Given the description of an element on the screen output the (x, y) to click on. 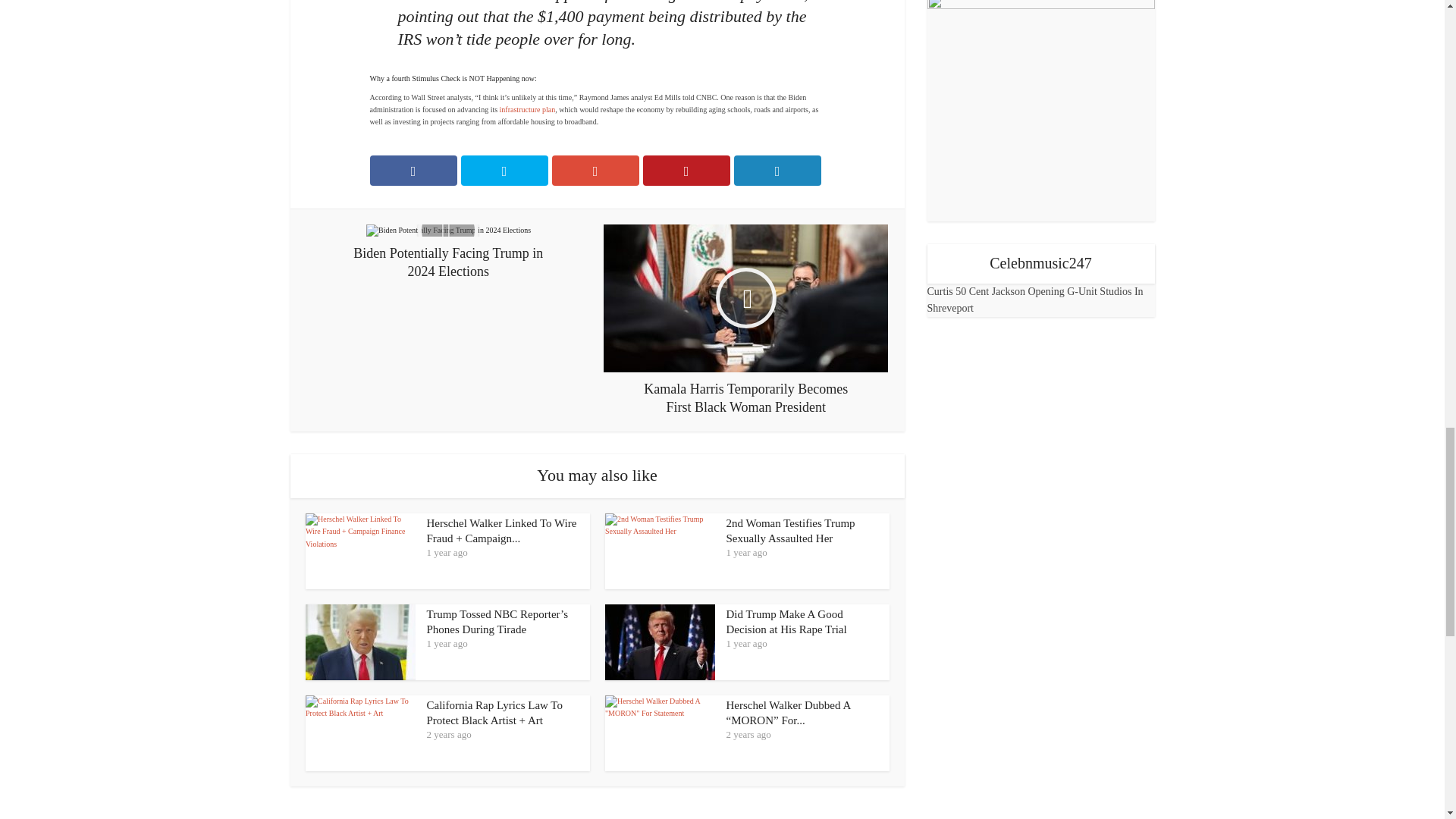
2nd Woman Testifies Trump Sexually Assaulted Her (791, 530)
Did Trump Make A Good Decision at His Rape Trial (786, 621)
Did Trump Make A Good Decision at His Rape Trial (786, 621)
infrastructure plan (527, 109)
Biden Potentially Facing Trump in 2024 Elections (448, 252)
2nd Woman Testifies Trump Sexually Assaulted Her (791, 530)
